Given the description of an element on the screen output the (x, y) to click on. 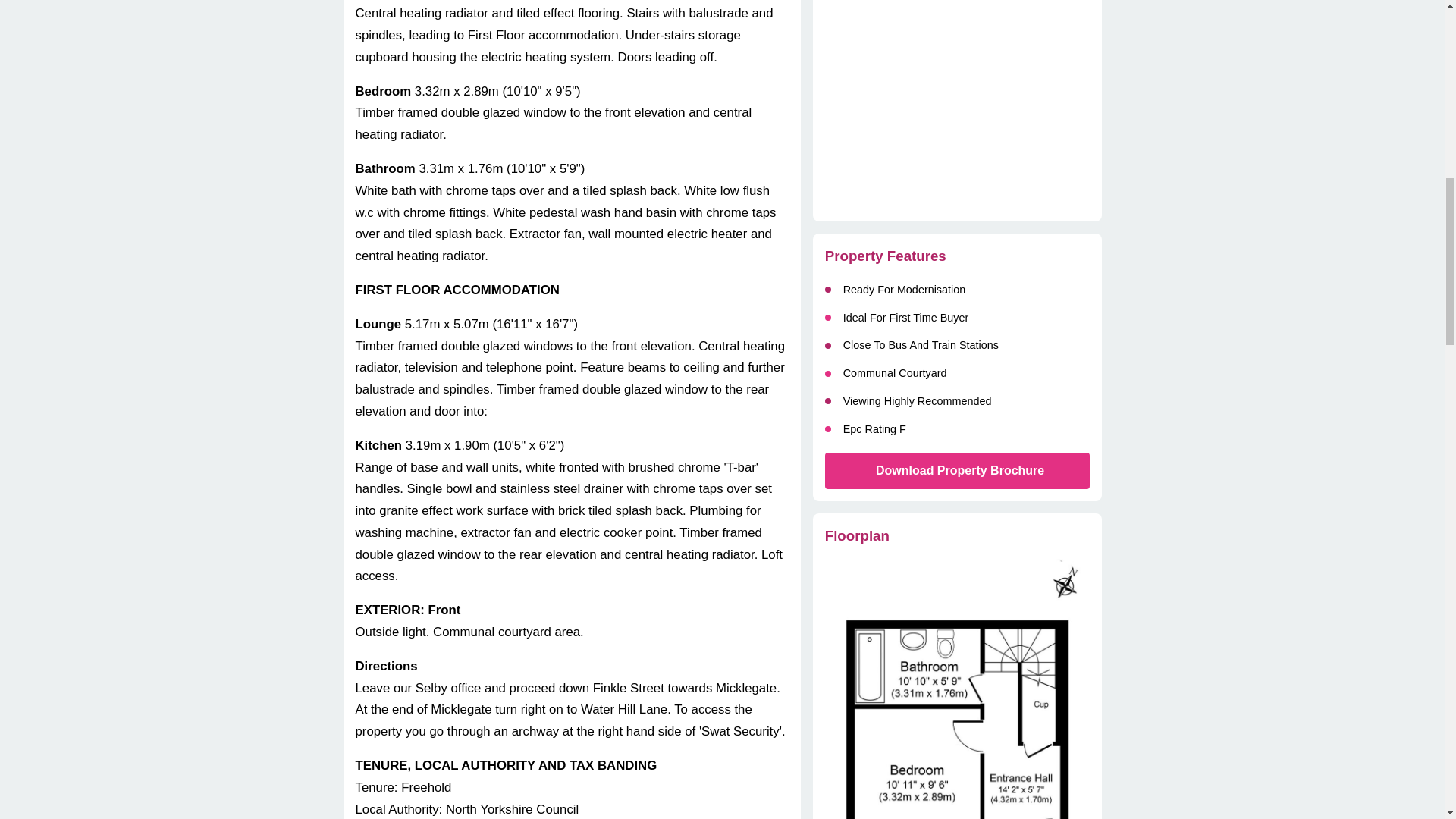
Download Property Brochure (957, 470)
